Given the description of an element on the screen output the (x, y) to click on. 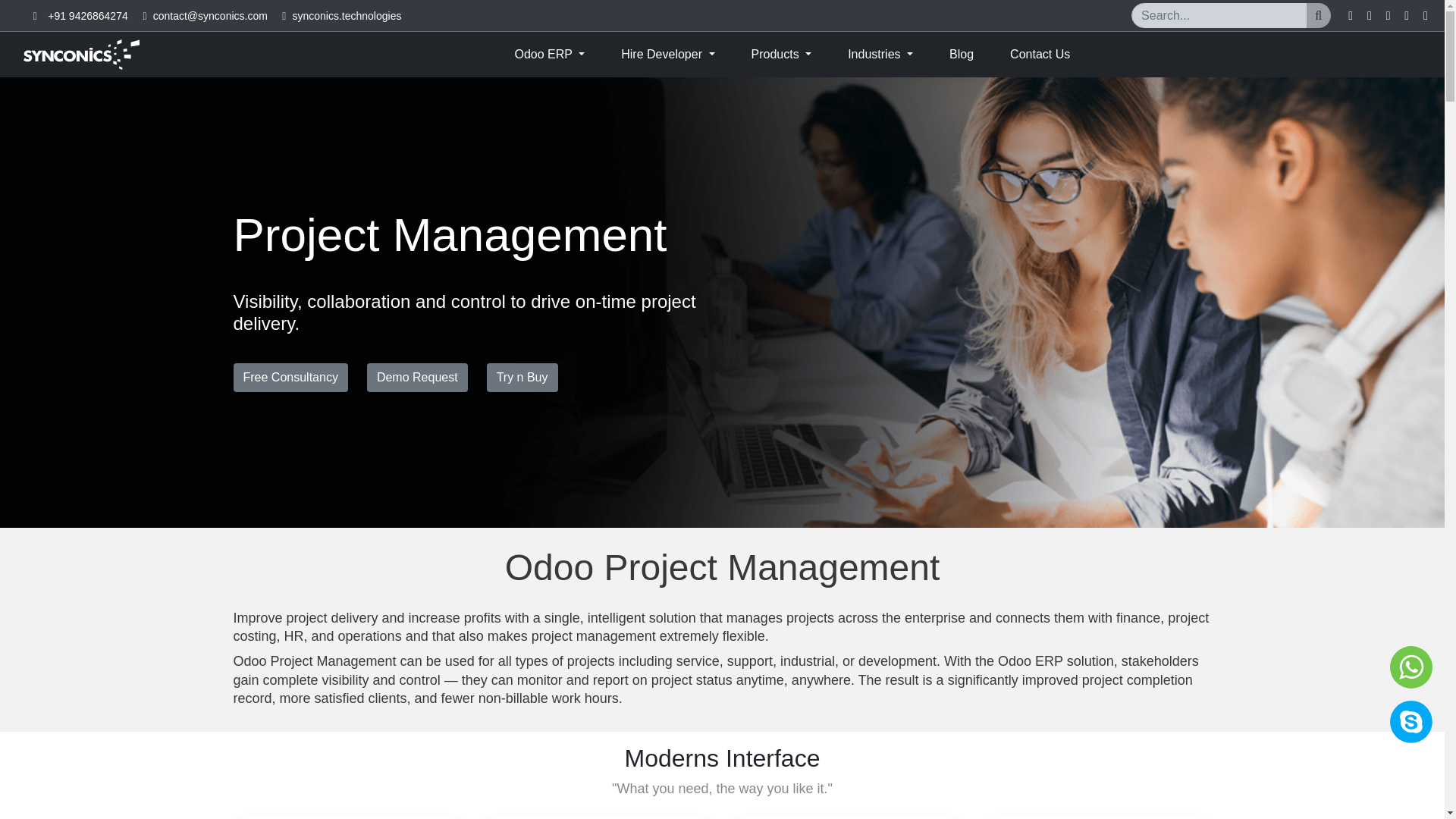
Odoo ERP (550, 54)
synconics.technologies (346, 15)
Search (1318, 15)
Synconics (81, 54)
